Given the description of an element on the screen output the (x, y) to click on. 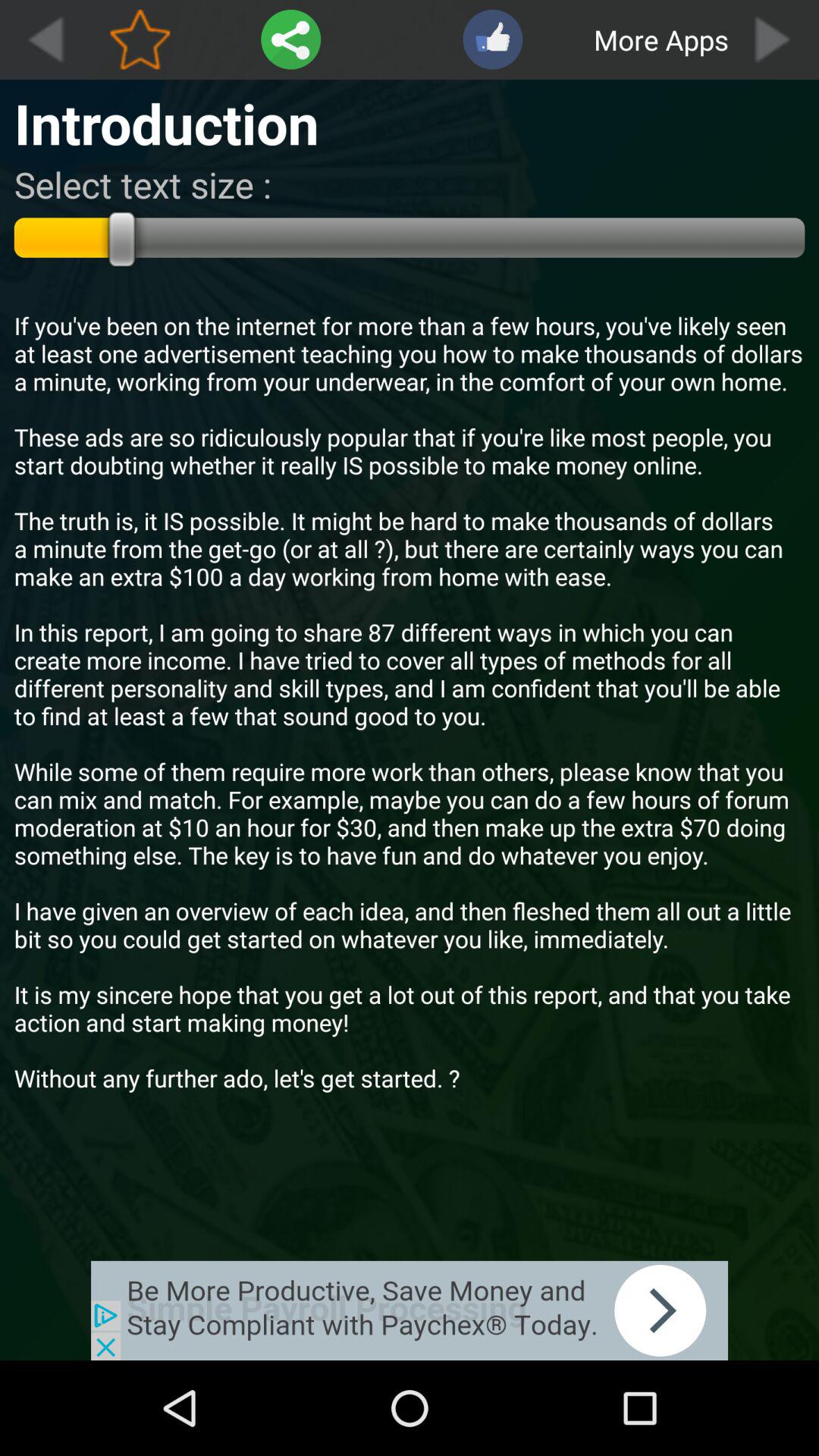
forward (773, 39)
